Given the description of an element on the screen output the (x, y) to click on. 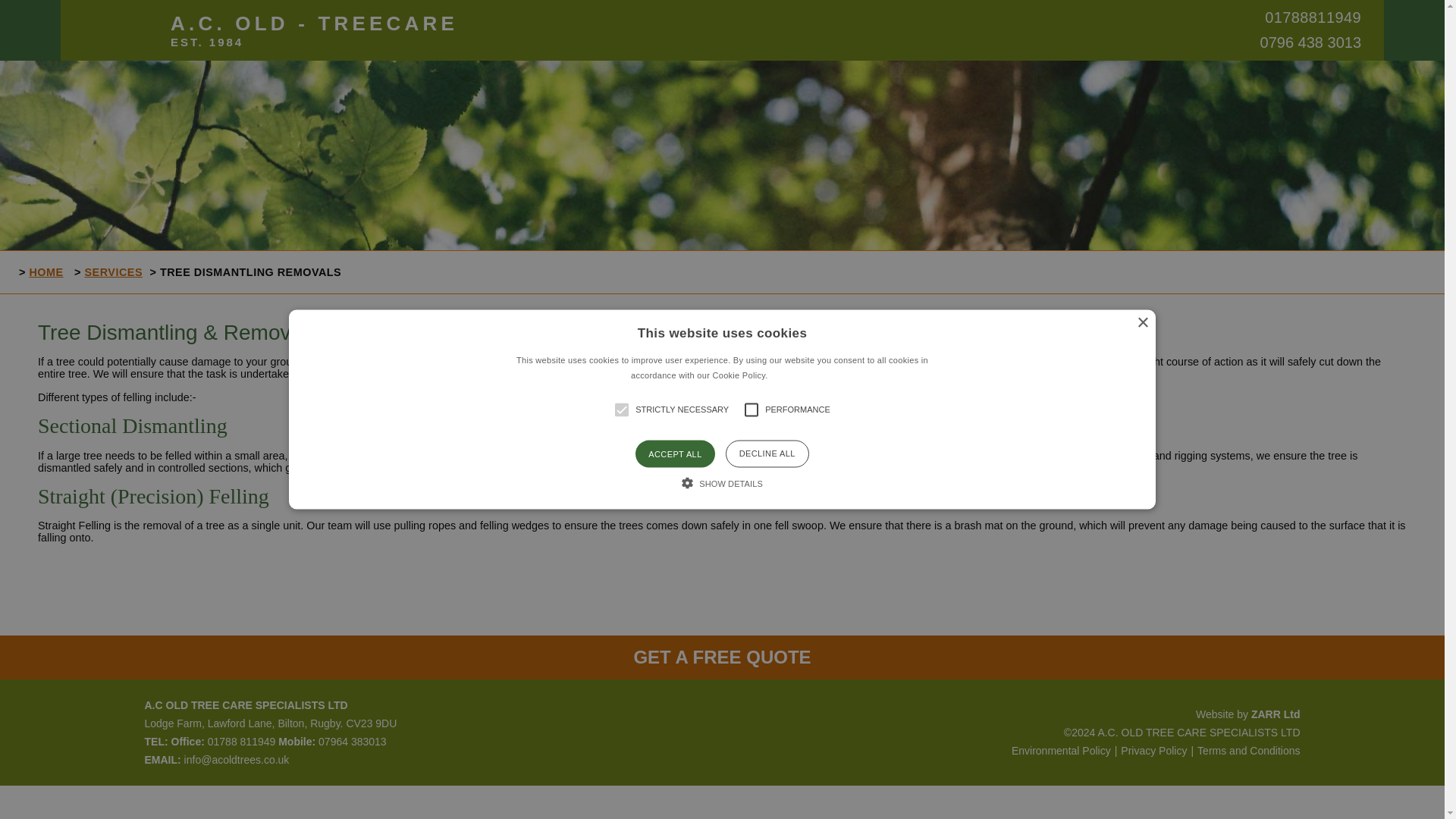
Read more (791, 374)
Privacy Policy (1151, 750)
SERVICES (113, 272)
07964 383013 (352, 741)
0796 438 3013 (1301, 42)
Website by ZARR Ltd (1247, 714)
Terms and Conditions (1245, 750)
Website design by ZARR (1247, 714)
Privacy Policy (1151, 750)
Terms and Conditions (1245, 750)
Environmental Policy (1060, 750)
01788811949 (314, 30)
HOME (1301, 17)
Environmental Policy (45, 272)
